Given the description of an element on the screen output the (x, y) to click on. 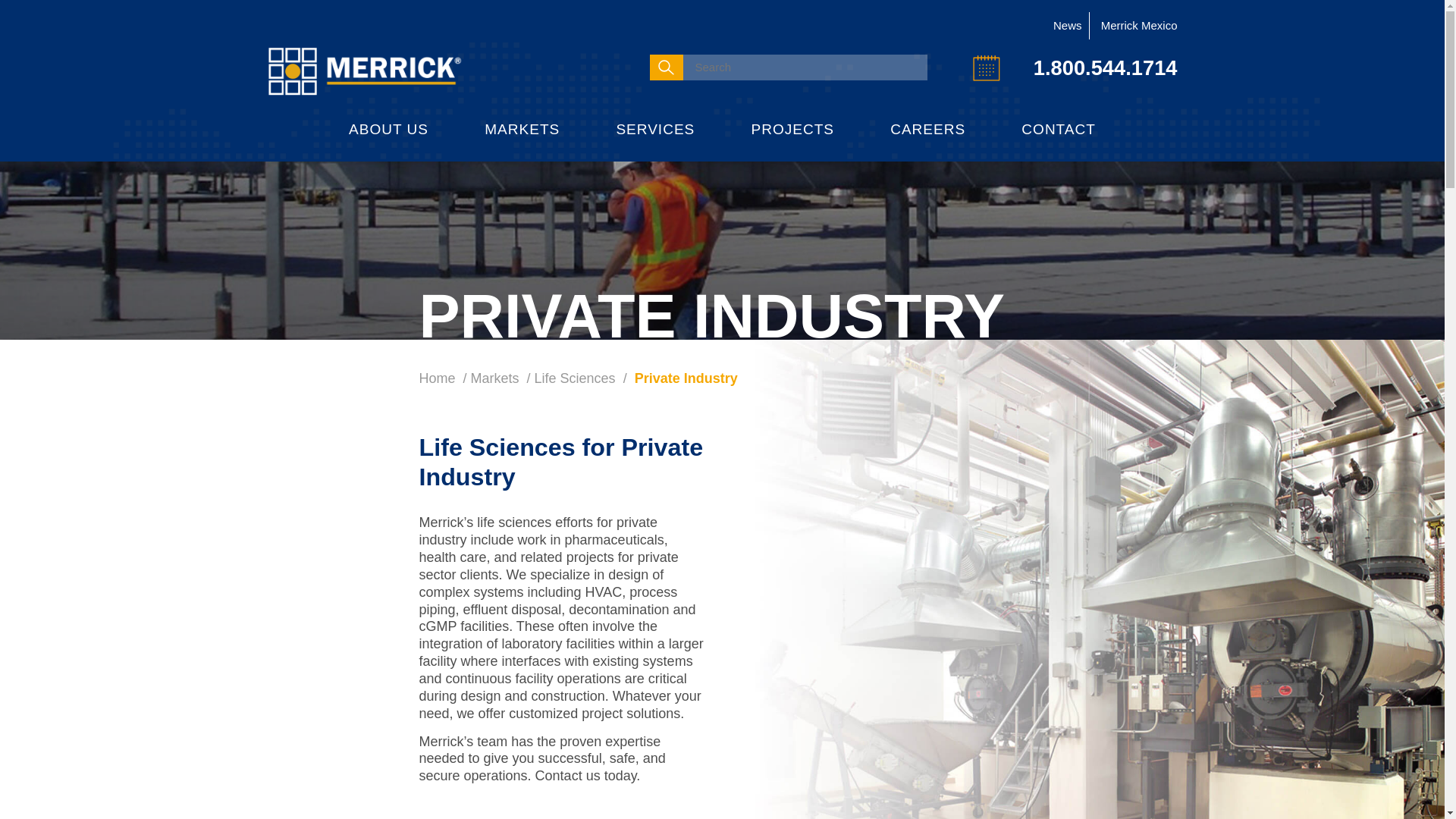
Merrick (363, 70)
